Given the description of an element on the screen output the (x, y) to click on. 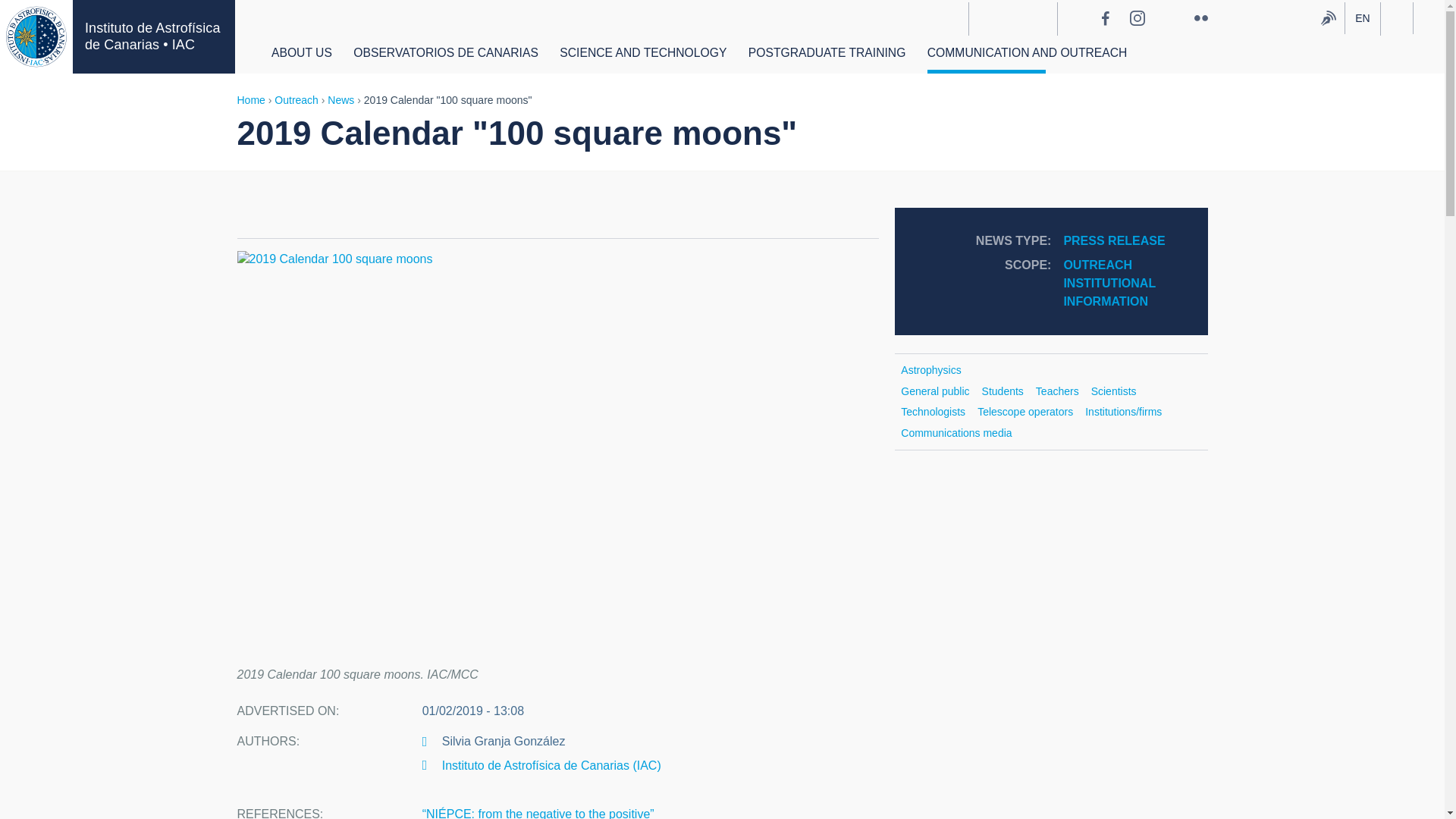
OBSERVATORIOS DE CANARIAS (445, 55)
severoochoa (1012, 19)
Home (153, 36)
ABOUT US (300, 55)
Home (36, 36)
SCIENCE AND TECHNOLOGY (642, 55)
EN (1362, 19)
Log in (1396, 18)
